Given the description of an element on the screen output the (x, y) to click on. 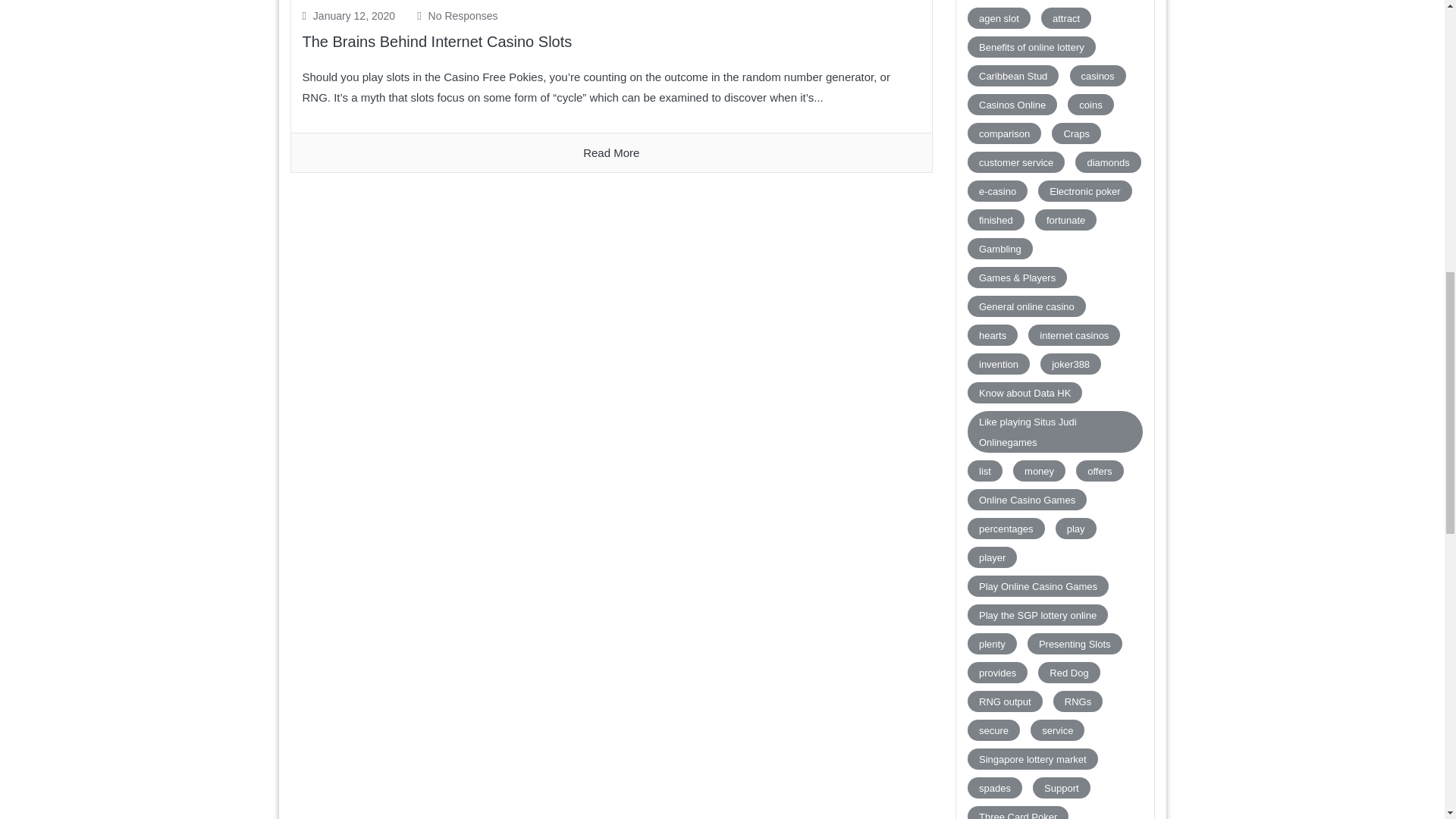
The Brains Behind Internet Casino Slots (436, 41)
The Brains Behind Internet Casino Slots (436, 41)
Casinos Online (1012, 104)
Caribbean Stud (1013, 75)
The Brains Behind Internet Casino Slots (611, 152)
attract (1065, 17)
agen slot (999, 17)
casinos (1097, 75)
Benefits of online lottery (1032, 46)
Read More (611, 152)
